Given the description of an element on the screen output the (x, y) to click on. 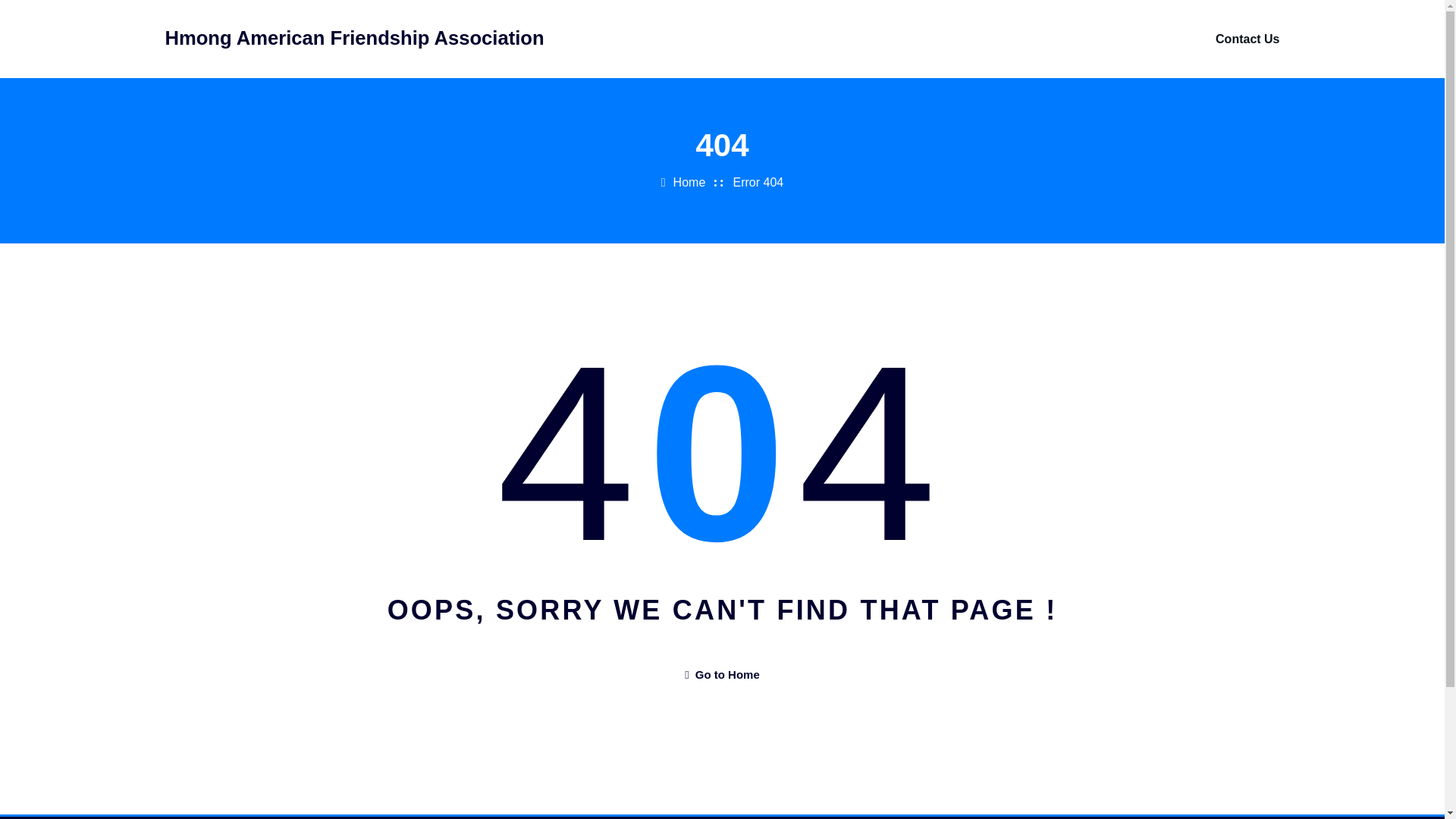
Home (689, 182)
Contact Us (1247, 38)
Go to Home (721, 674)
Error 404 (758, 182)
Hmong American Friendship Association (354, 37)
